Given the description of an element on the screen output the (x, y) to click on. 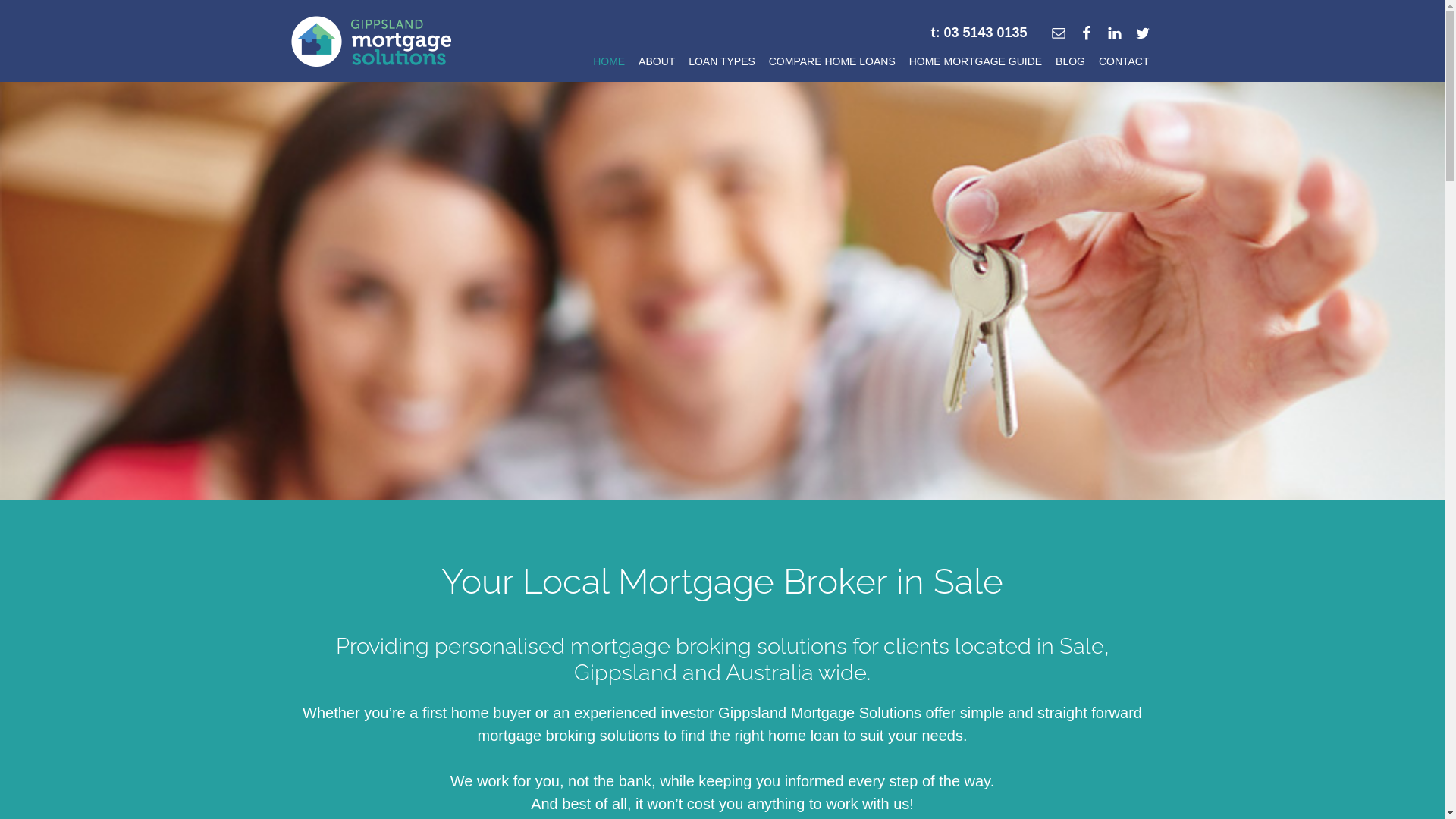
GIPPSLAND MORTGAGE SOLUTIONS Element type: text (370, 41)
HOME Element type: text (608, 65)
03 5143 0135 Element type: text (984, 32)
COMPARE HOME LOANS Element type: text (832, 65)
LOAN TYPES Element type: text (721, 65)
HOME MORTGAGE GUIDE Element type: text (975, 65)
BLOG Element type: text (1069, 65)
ABOUT Element type: text (656, 65)
CONTACT Element type: text (1124, 65)
